Given the description of an element on the screen output the (x, y) to click on. 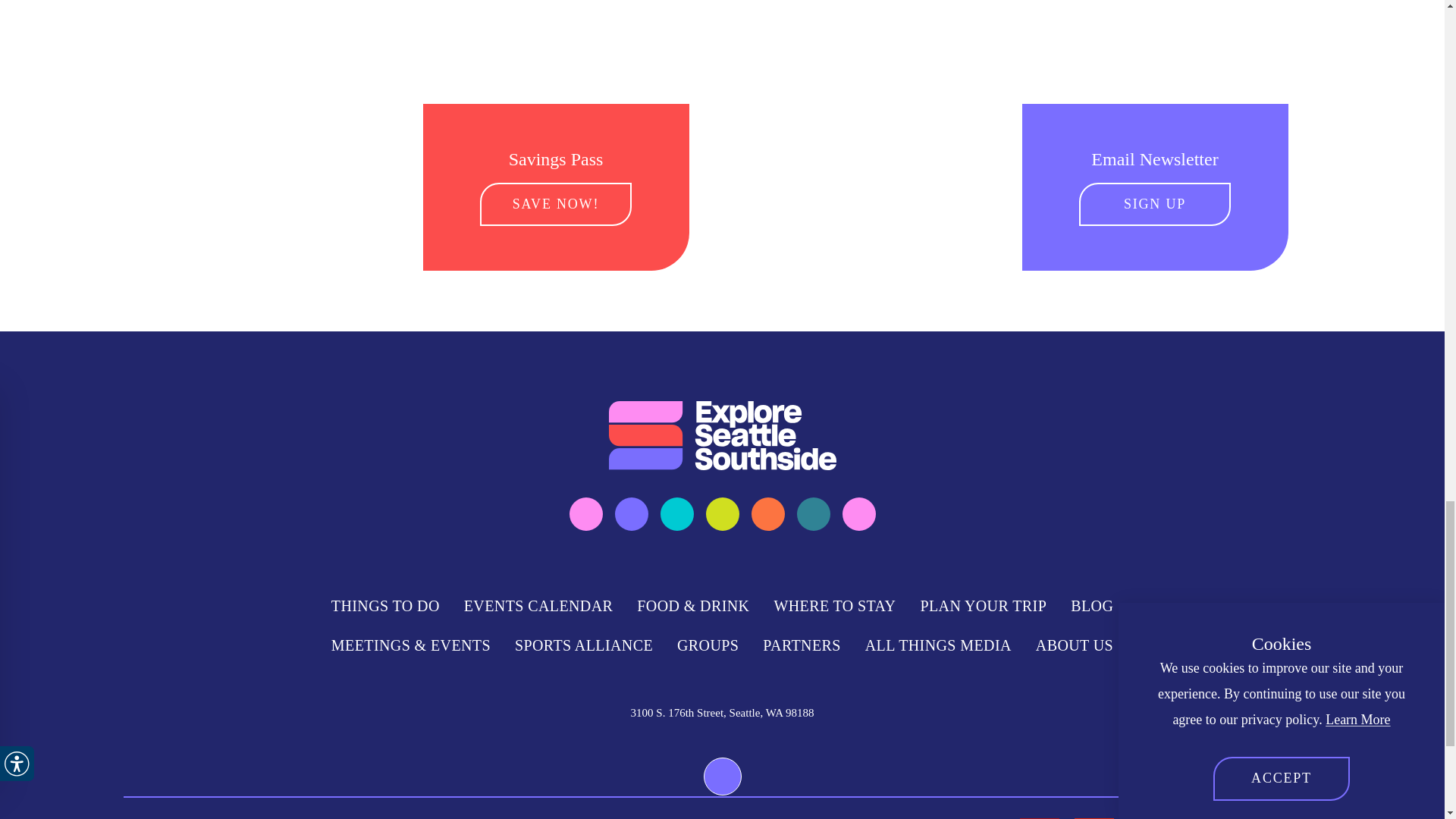
SIGN UP (1154, 204)
SAVE NOW! (555, 204)
THINGS TO DO (385, 605)
